Given the description of an element on the screen output the (x, y) to click on. 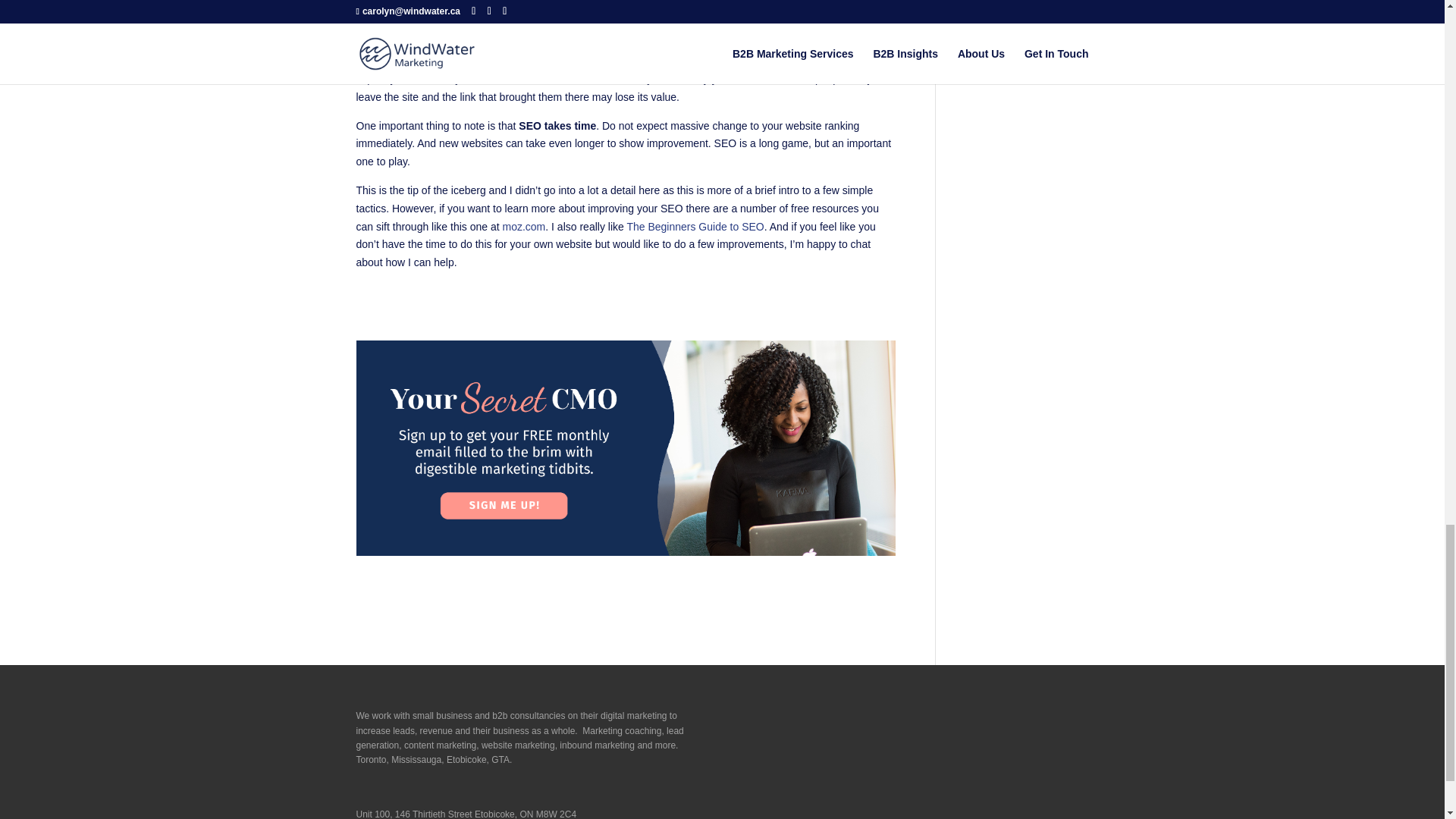
moz.com (523, 226)
The Beginners Guide to SEO (694, 226)
Windwater-Marketing-Blog-Post-Optin (625, 448)
